Given the description of an element on the screen output the (x, y) to click on. 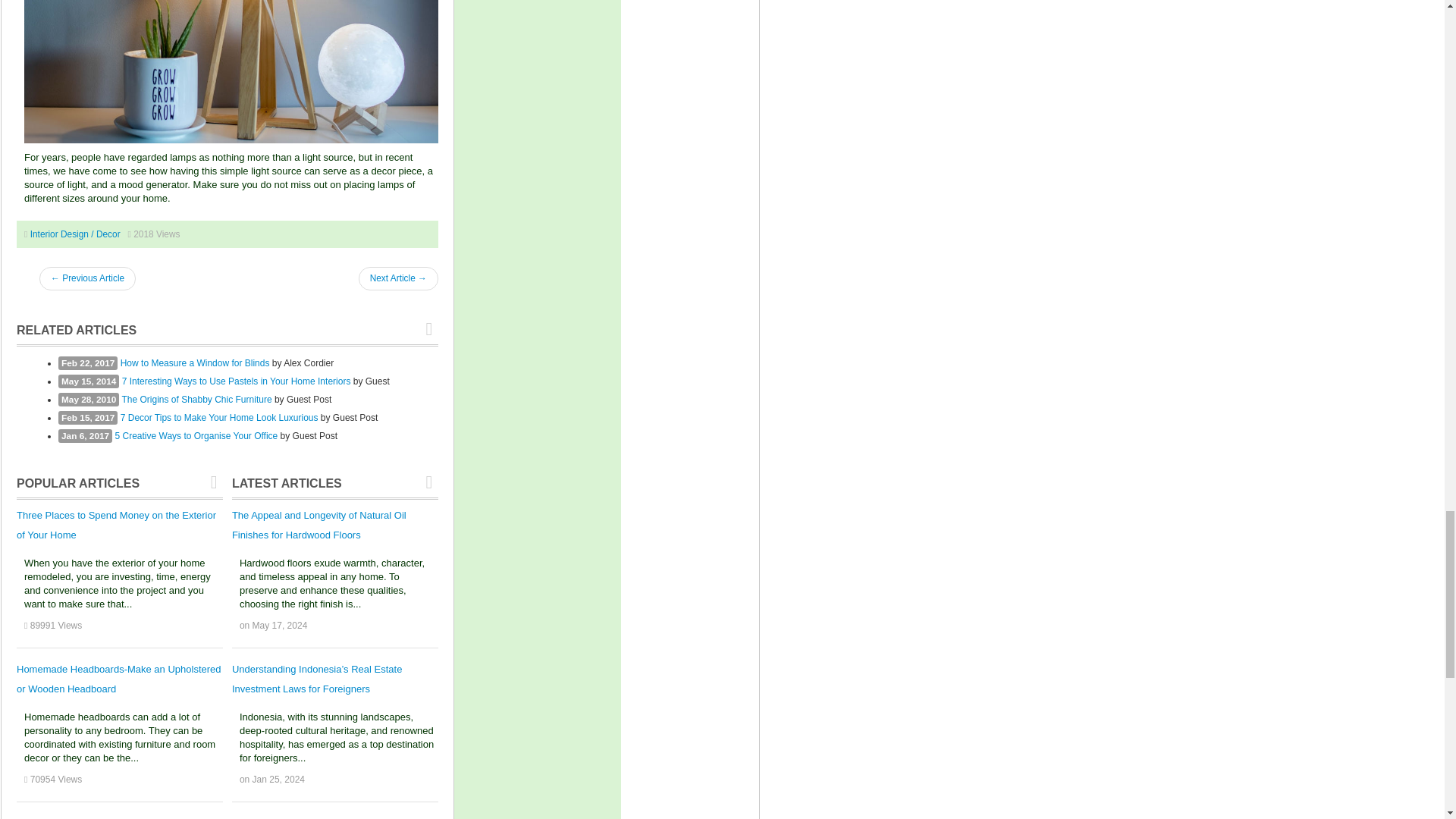
How to Bring Affordable Luxury to Your Home (87, 278)
The Origins of Shabby Chic Furniture (195, 398)
Best Area Rugs For Your Home or Office (398, 278)
7 Decor Tips to Make Your Home Look Luxurious (219, 417)
7 Interesting Ways to Use Pastels in Your Home Interiors (236, 380)
5 Creative Ways to Organise Your Office (196, 435)
Three Places to Spend Money on the Exterior of Your Home (115, 524)
How to Measure a Window for Blinds (194, 362)
